Given the description of an element on the screen output the (x, y) to click on. 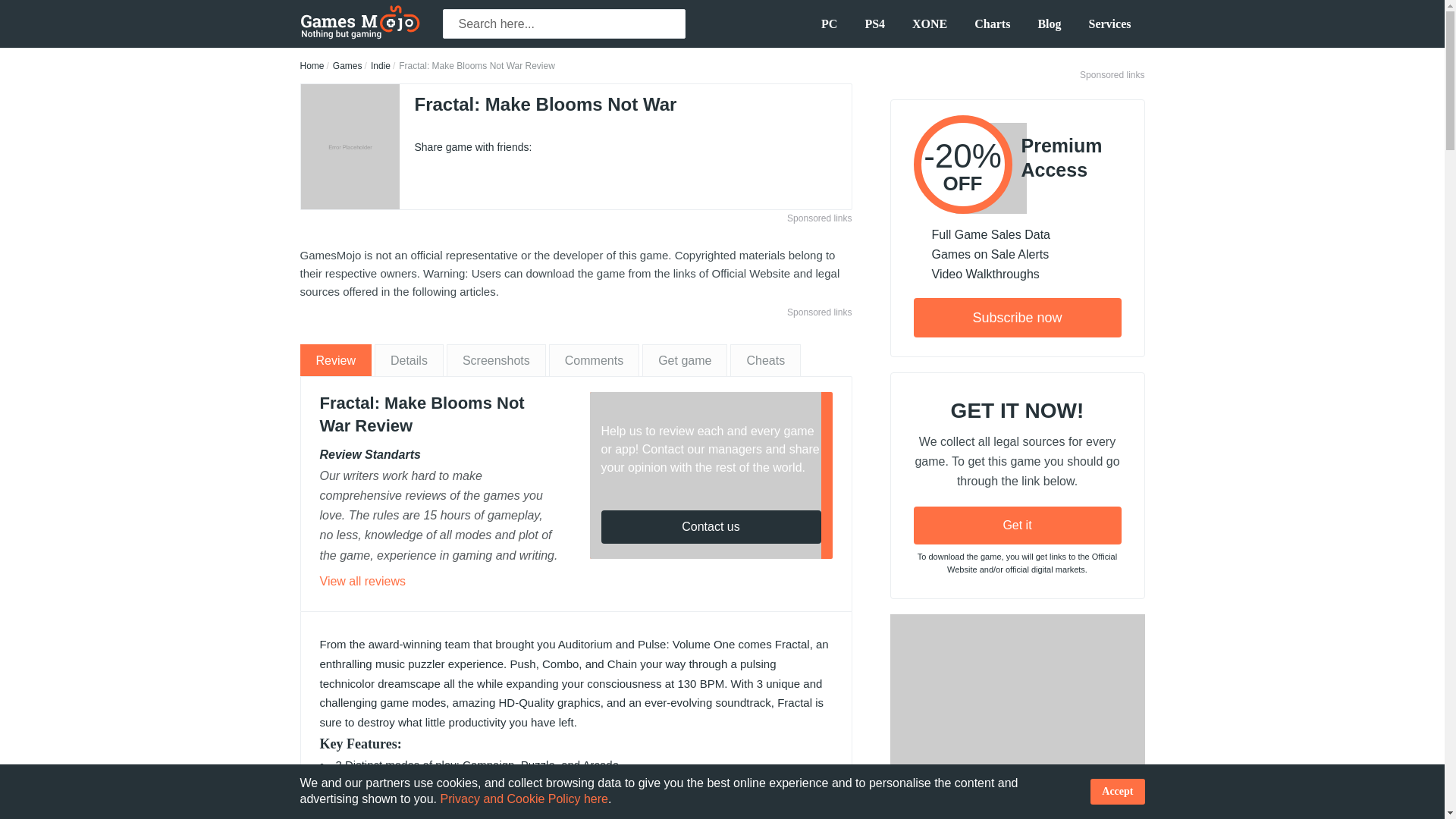
Cheats (765, 359)
Screenshots (496, 359)
Games (347, 65)
PC (829, 23)
XONE (929, 23)
PS4 (874, 23)
Contact us (710, 526)
Indie (380, 65)
Services (1109, 23)
Home (311, 65)
Review (335, 359)
Comments (593, 359)
Get game (684, 359)
Charts (991, 23)
Details (409, 359)
